Given the description of an element on the screen output the (x, y) to click on. 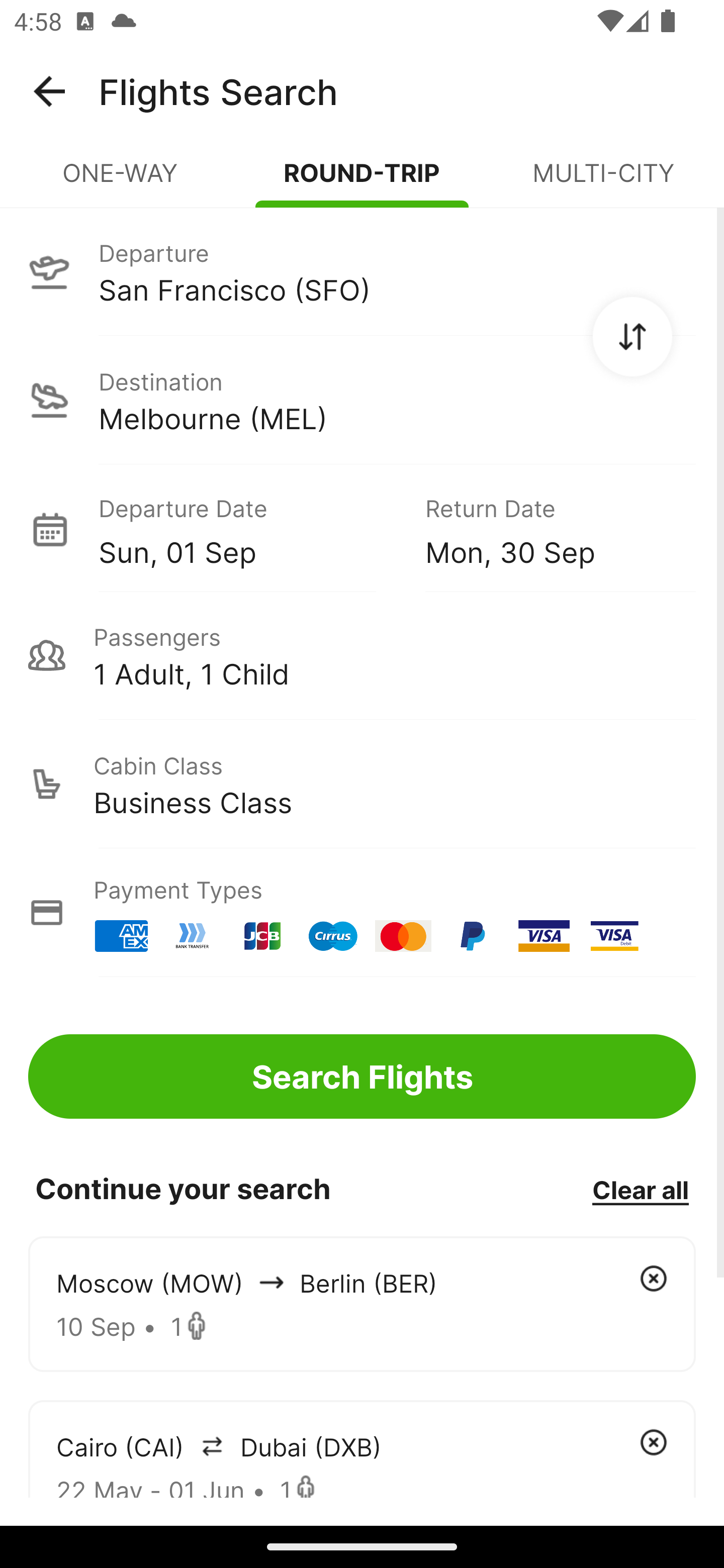
ONE-WAY (120, 180)
ROUND-TRIP (361, 180)
MULTI-CITY (603, 180)
Departure San Francisco (SFO) (362, 270)
Destination Melbourne (MEL) (362, 400)
Departure Date Sun, 01 Sep (247, 528)
Return Date Mon, 30 Sep (546, 528)
Passengers 1 Adult, 1 Child (362, 655)
Cabin Class Business Class (362, 783)
Payment Types (362, 912)
Search Flights (361, 1075)
Clear all (640, 1189)
Moscow (MOW)  arrowIcon  Berlin (BER) 10 Sep •  1  (361, 1303)
